Given the description of an element on the screen output the (x, y) to click on. 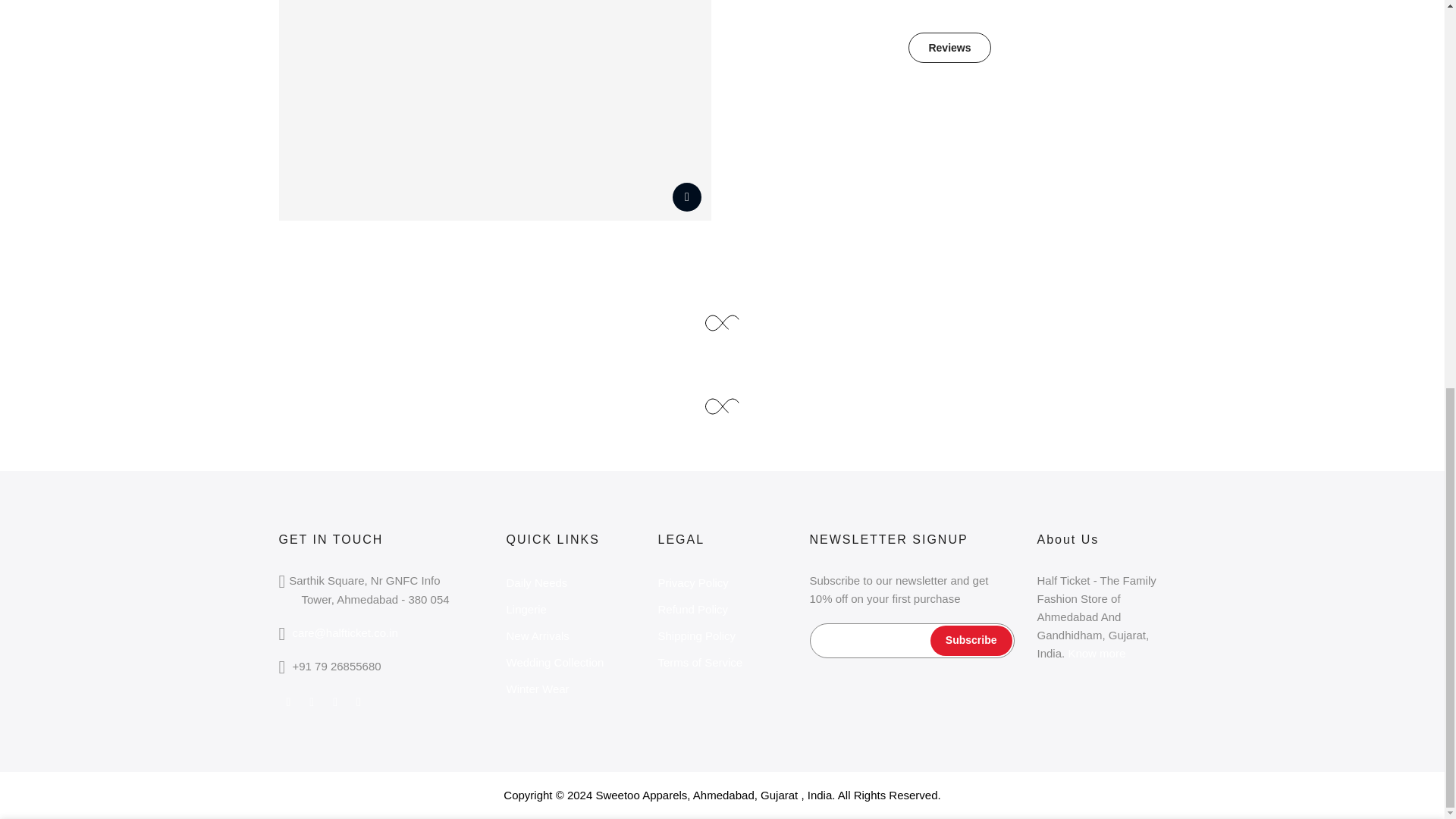
About Us (1096, 653)
1 (1001, 118)
